Given the description of an element on the screen output the (x, y) to click on. 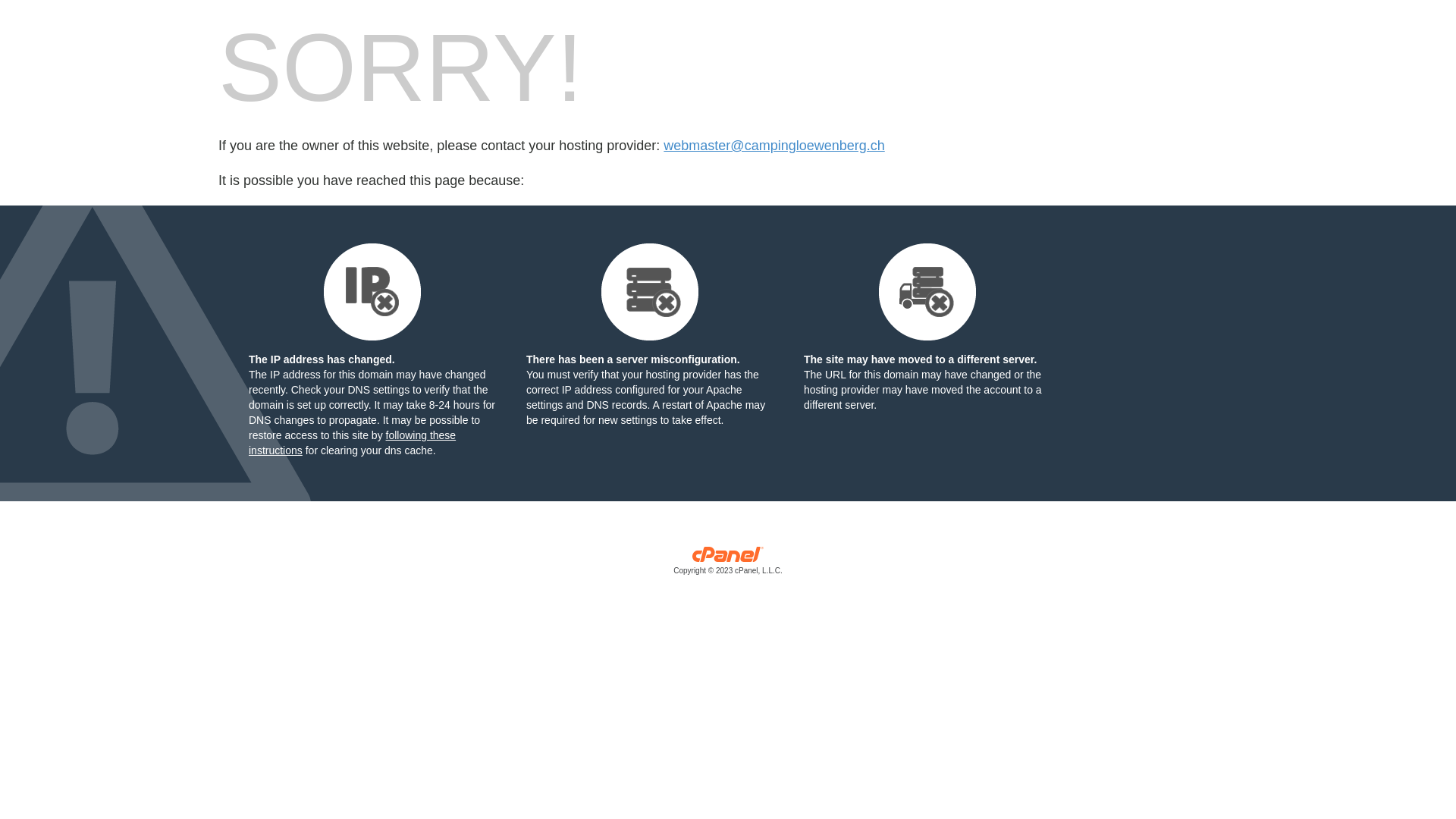
following these instructions Element type: text (351, 442)
webmaster@campingloewenberg.ch Element type: text (773, 145)
